Given the description of an element on the screen output the (x, y) to click on. 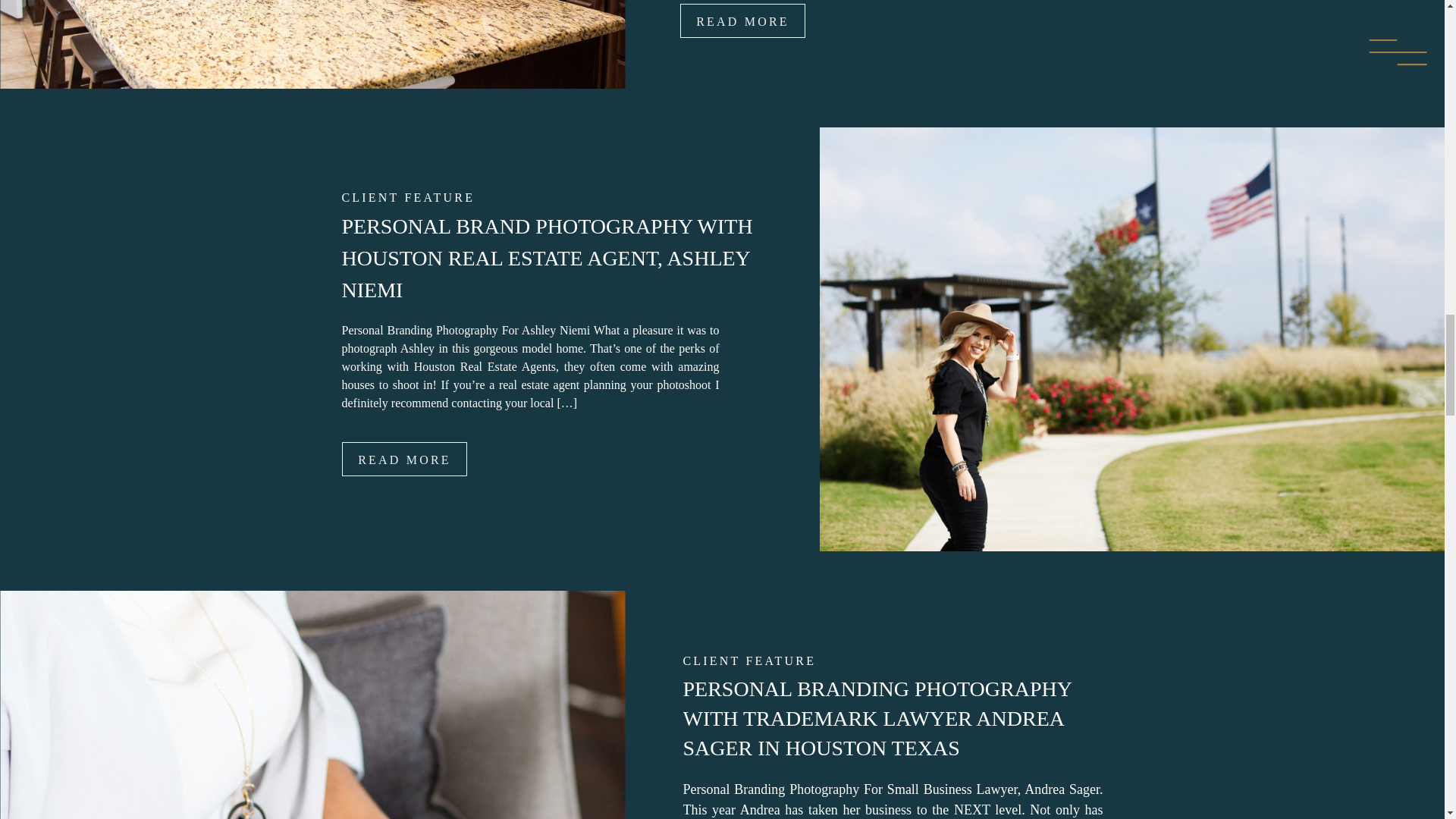
READ MORE (403, 458)
READ MORE (742, 20)
CLIENT FEATURE (748, 660)
CLIENT FEATURE (407, 196)
